Given the description of an element on the screen output the (x, y) to click on. 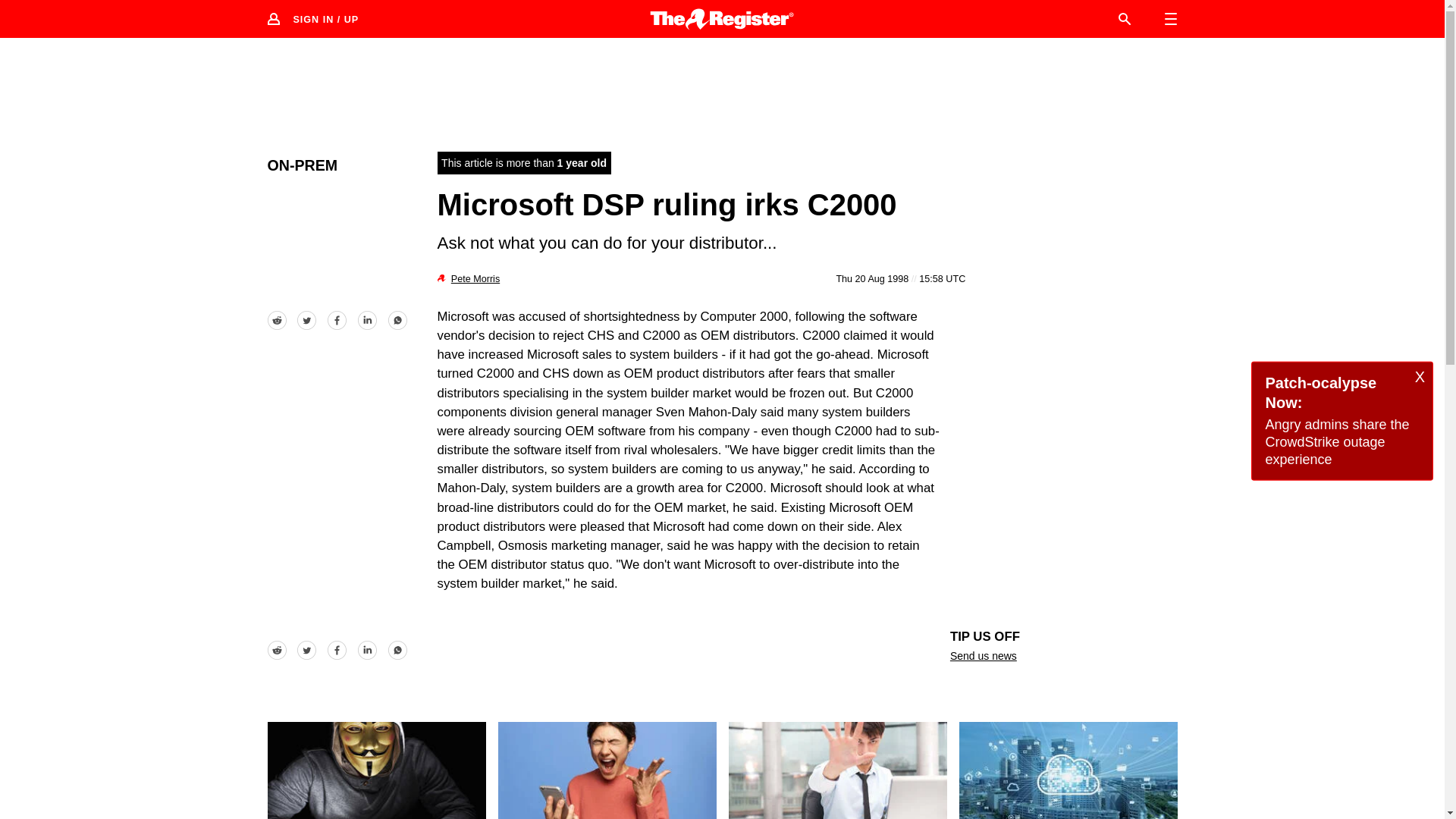
Read more by this author (475, 278)
